Given the description of an element on the screen output the (x, y) to click on. 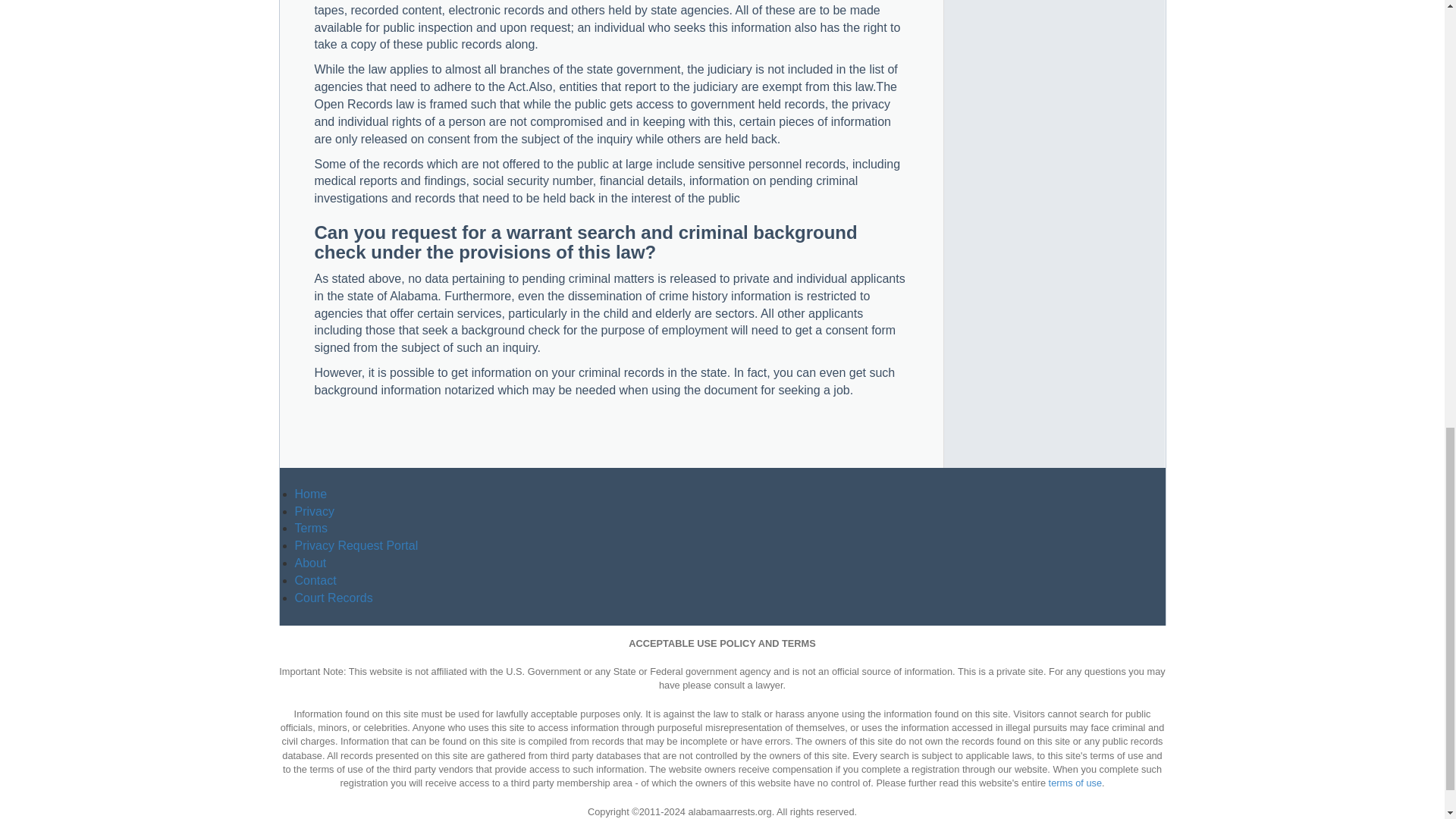
Home Page (310, 493)
Terms (310, 527)
Court Records (333, 597)
About Us (310, 562)
About (310, 562)
Privacy (313, 511)
Terms of Service (310, 527)
contact us (315, 580)
terms of use (1075, 782)
Contact (315, 580)
Home (310, 493)
Privacy Request Portal (355, 545)
Court Records (333, 597)
Privacy (313, 511)
